Given the description of an element on the screen output the (x, y) to click on. 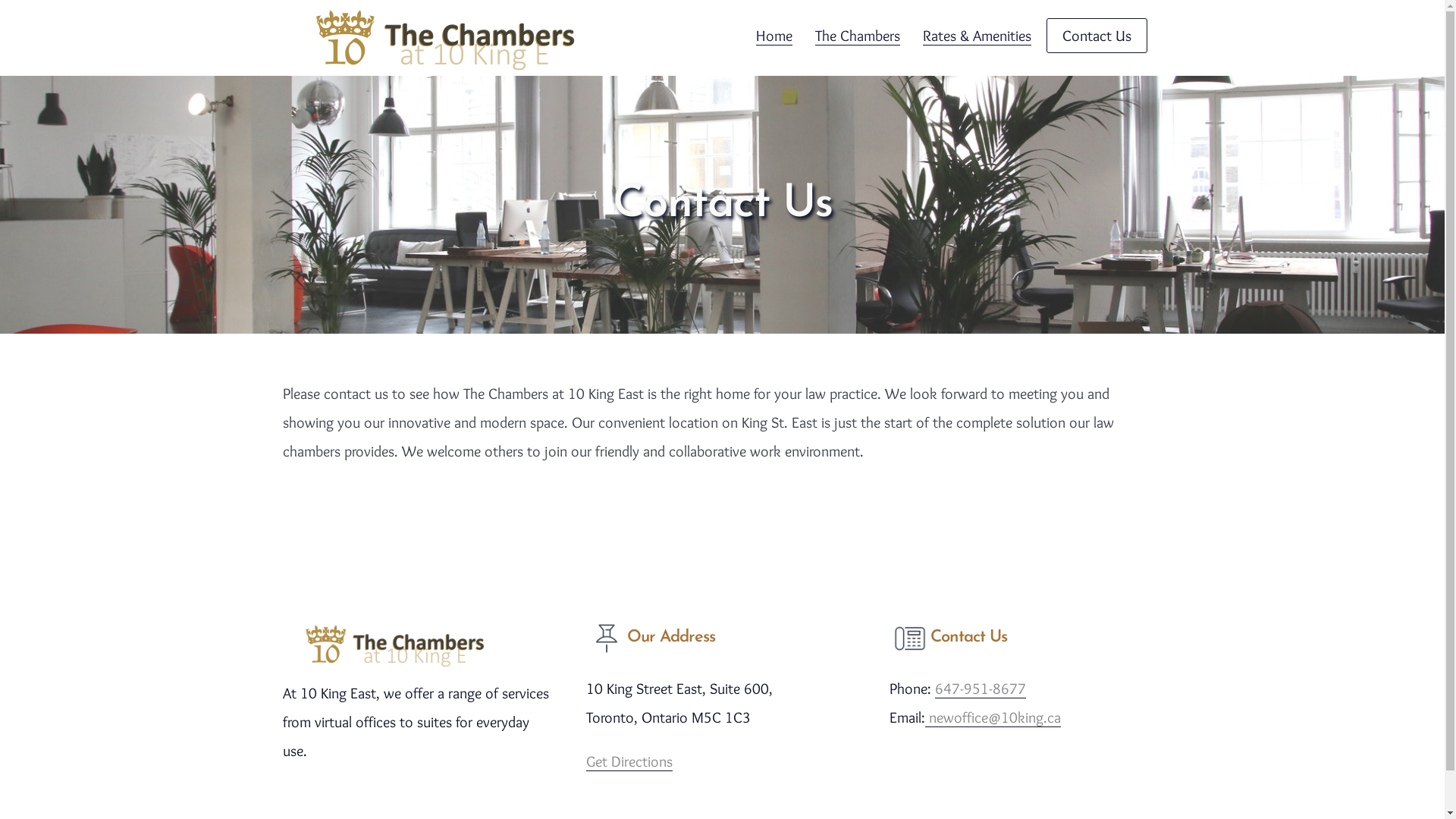
Rates & Amenities Element type: text (976, 35)
newoffice@10king.ca Element type: text (992, 717)
Contact Us Element type: text (1096, 35)
Home Element type: text (773, 35)
Get Directions Element type: text (628, 761)
The Chambers Element type: text (856, 35)
647-951-8677 Element type: text (979, 688)
